Given the description of an element on the screen output the (x, y) to click on. 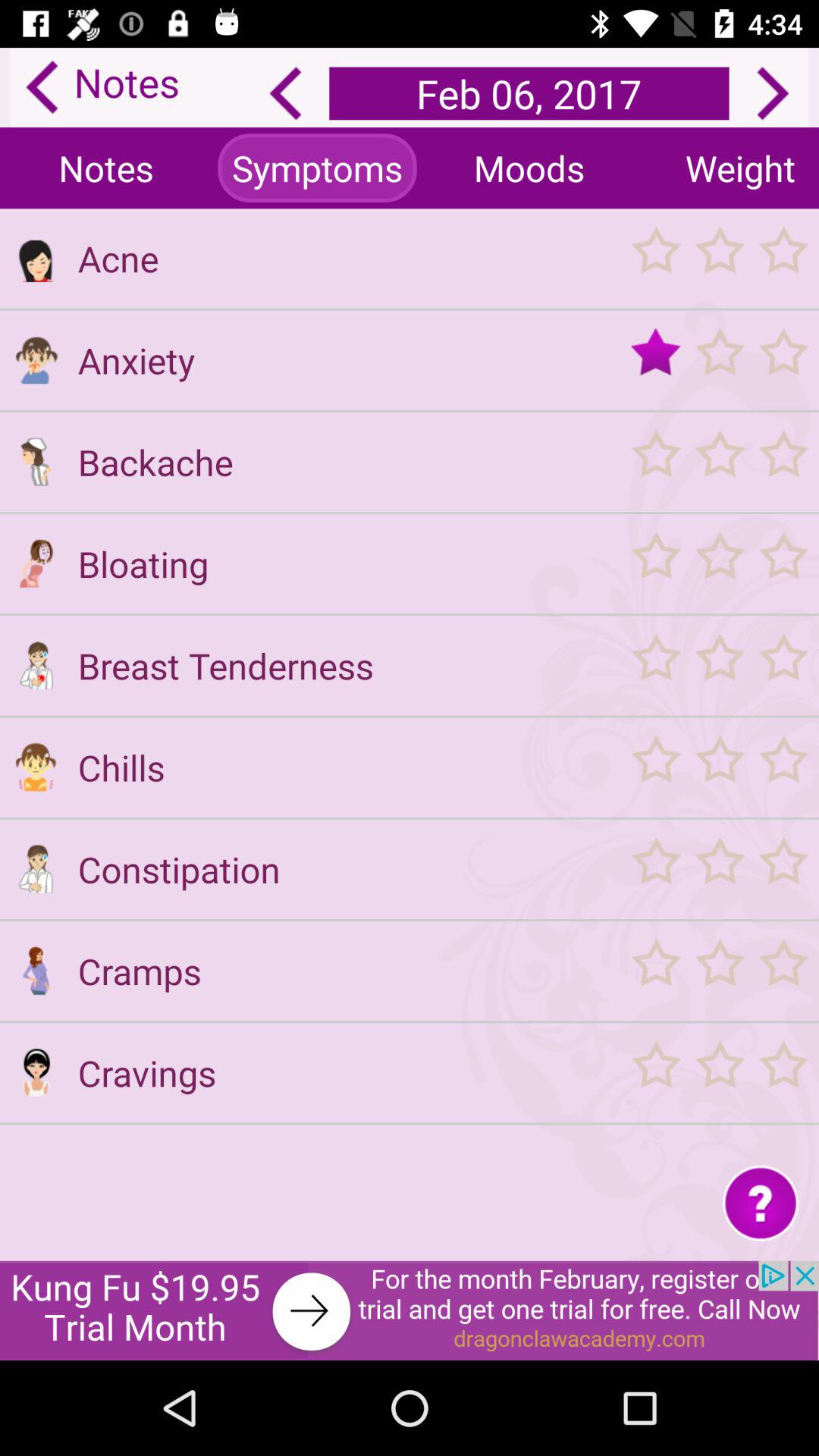
rate cravings (719, 1072)
